Given the description of an element on the screen output the (x, y) to click on. 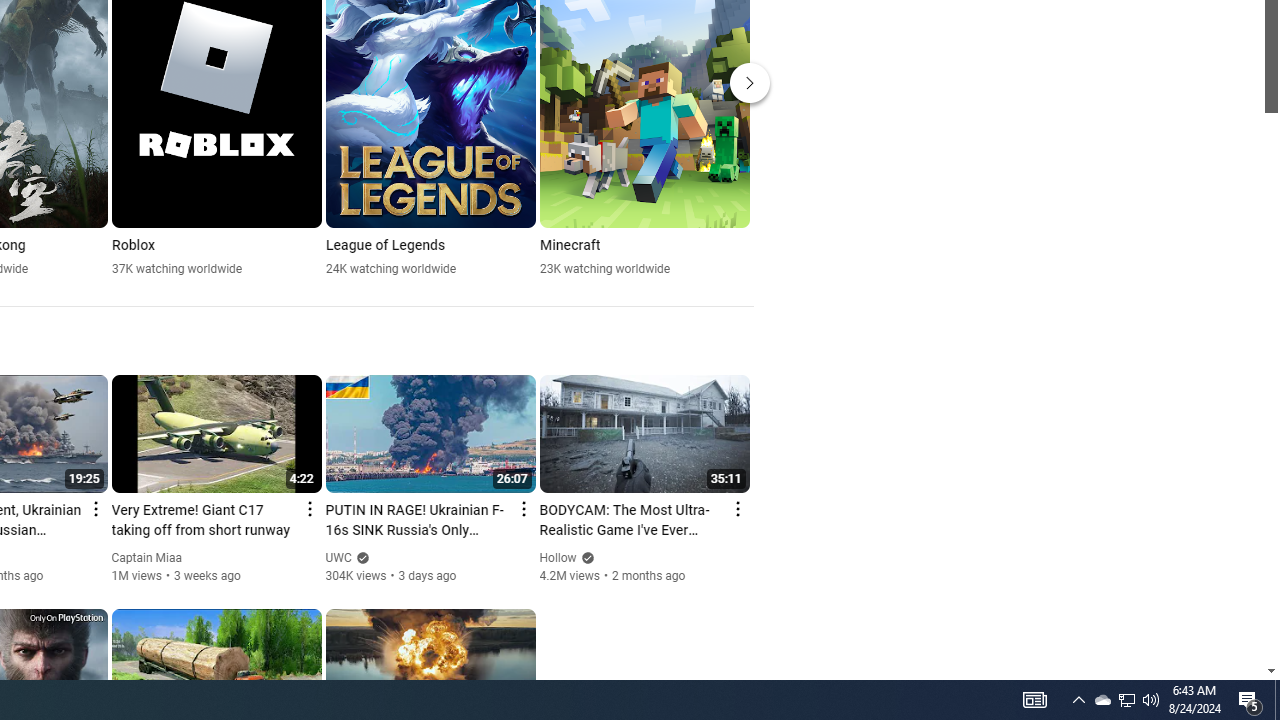
Action menu (736, 508)
Verified (585, 557)
UWC (339, 557)
Captain Miaa (147, 557)
Hollow (558, 557)
